Given the description of an element on the screen output the (x, y) to click on. 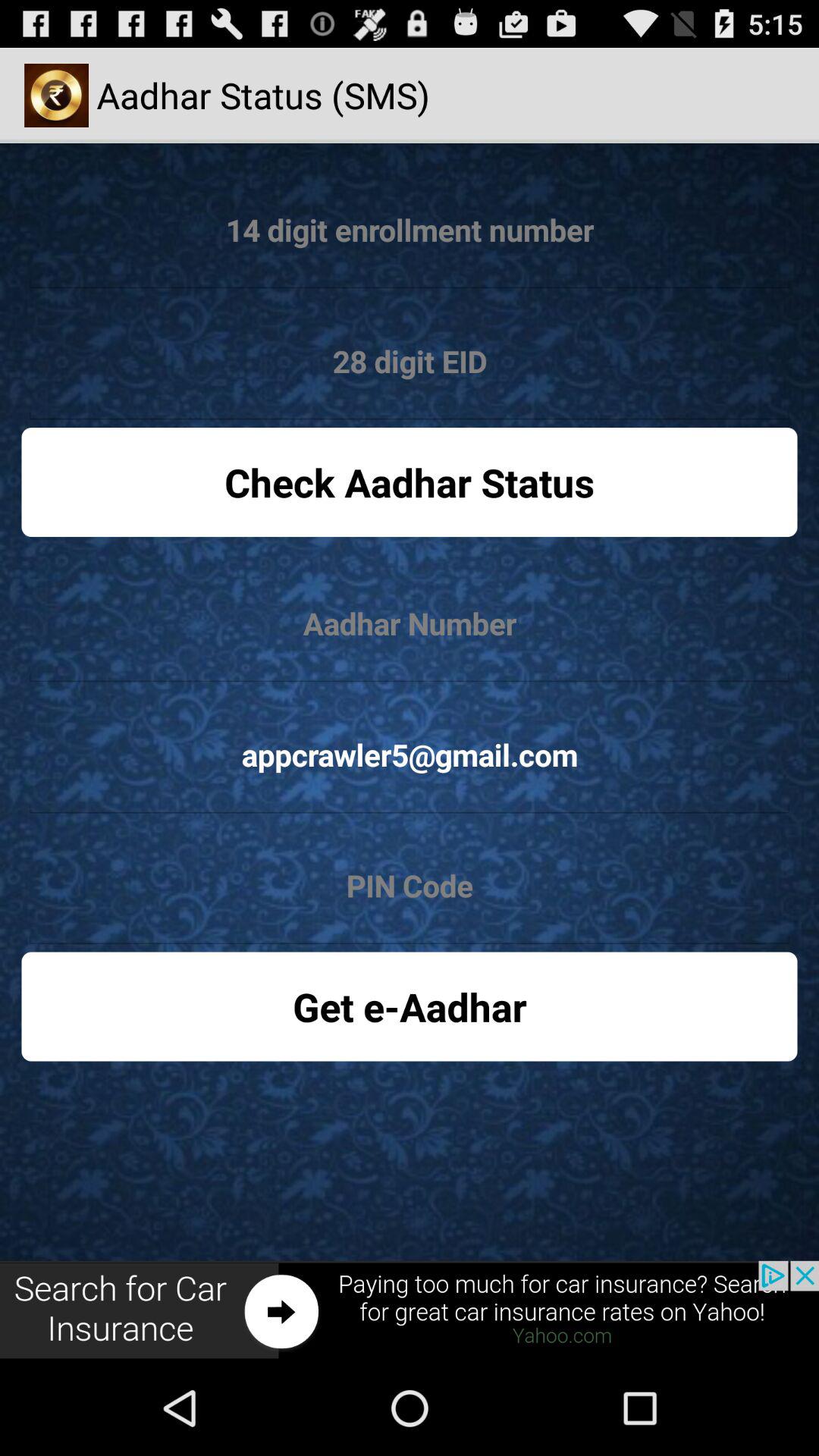
enter pin (409, 886)
